Given the description of an element on the screen output the (x, y) to click on. 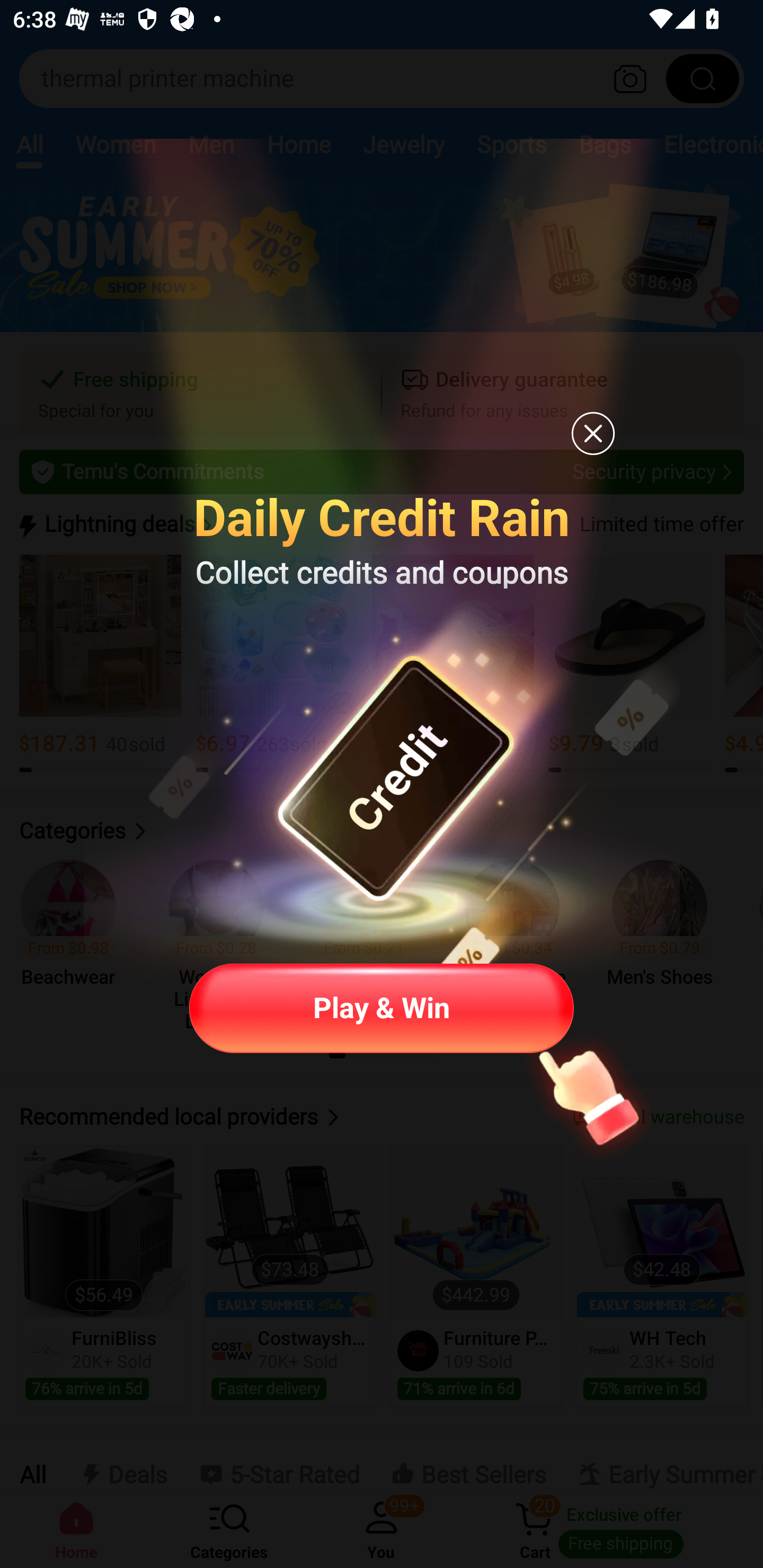
 (592, 433)
